Given the description of an element on the screen output the (x, y) to click on. 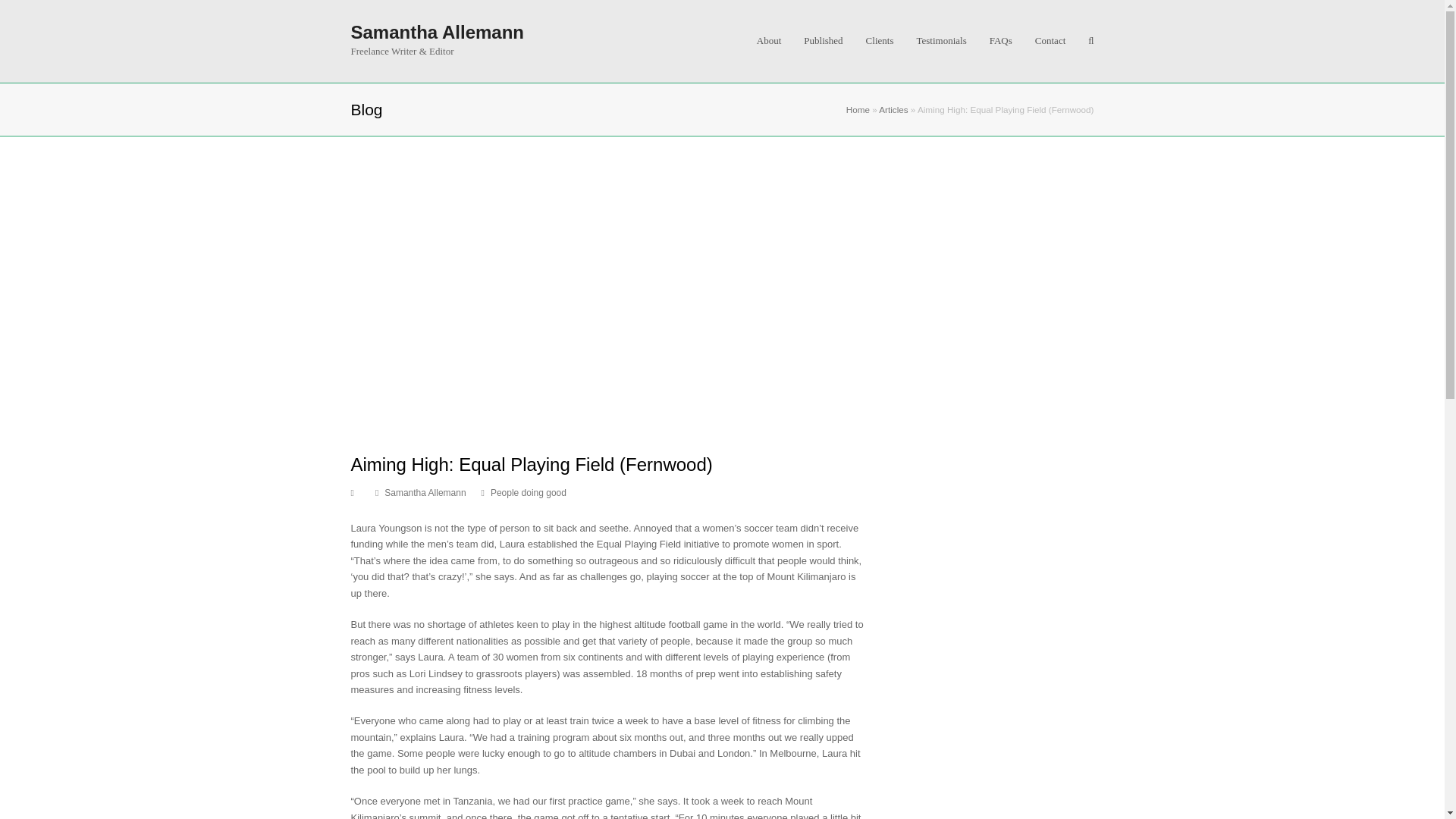
Published (822, 40)
About (769, 40)
Articles (893, 109)
Testimonials (940, 40)
Clients (879, 40)
Samantha Allemann (437, 32)
People doing good (528, 492)
Posts by Samantha Allemann (424, 492)
Home (857, 109)
Contact (1050, 40)
